Given the description of an element on the screen output the (x, y) to click on. 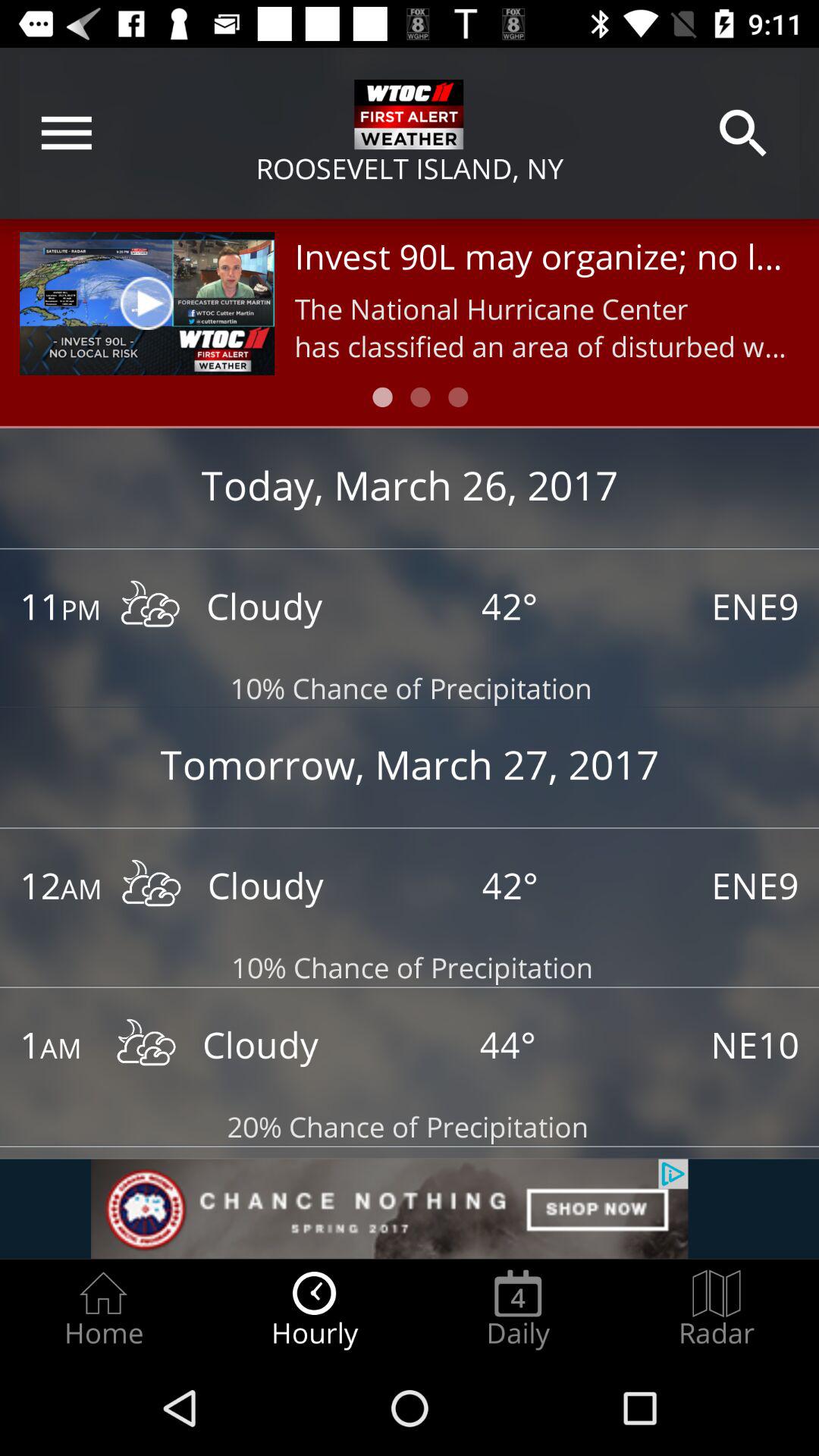
turn on the radio button next to the radar (518, 1309)
